Given the description of an element on the screen output the (x, y) to click on. 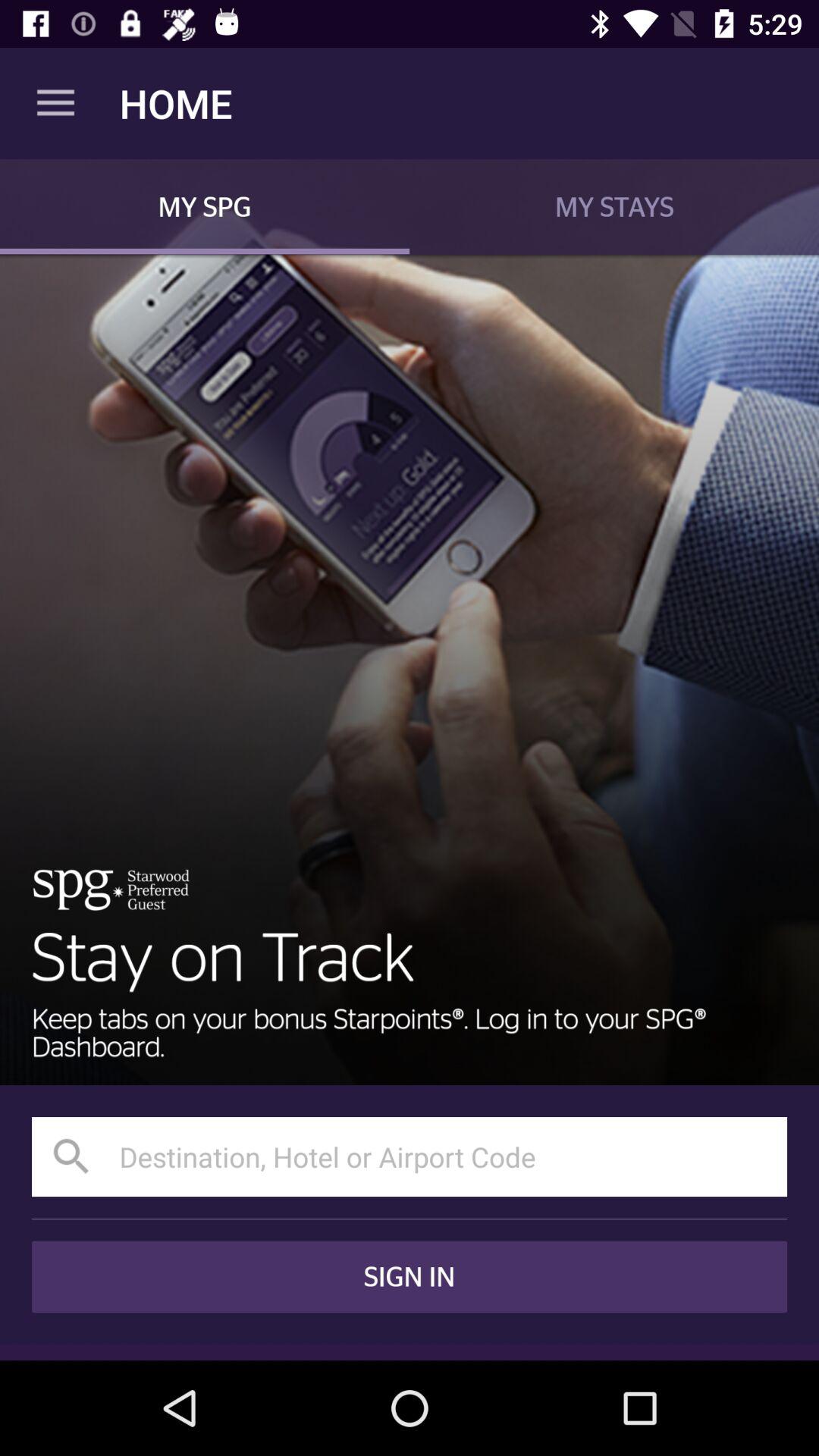
open the item next to the my stays (204, 206)
